Given the description of an element on the screen output the (x, y) to click on. 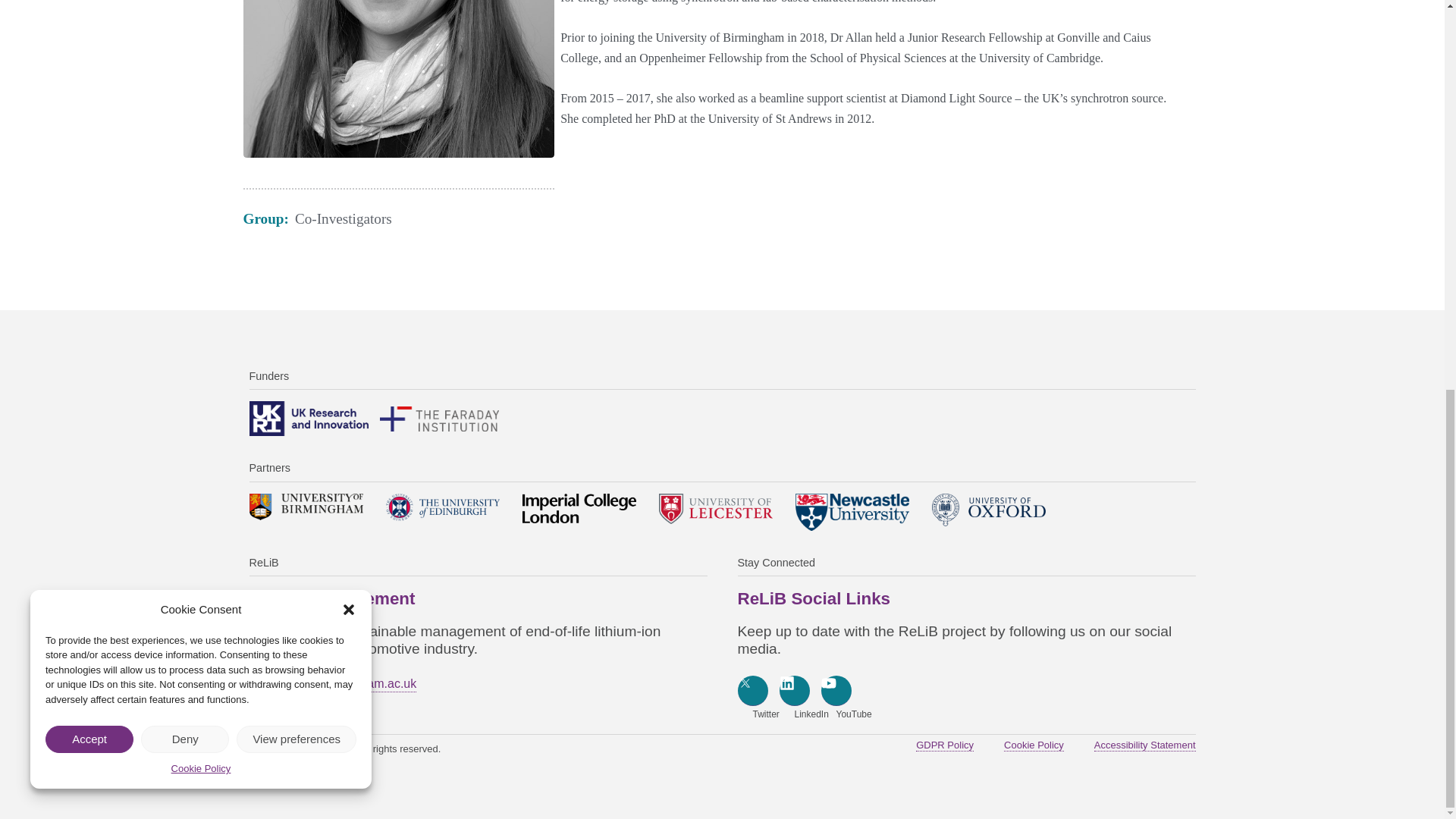
University-of-Birmingham (305, 506)
newcastle-university (851, 511)
Twitter (751, 690)
Cookie Policy (201, 26)
Imperial College London (577, 508)
Cookie Policy (1034, 745)
Accept (89, 5)
GDPR Policy (944, 745)
LinkedIn (793, 690)
faraday logo (437, 418)
